Given the description of an element on the screen output the (x, y) to click on. 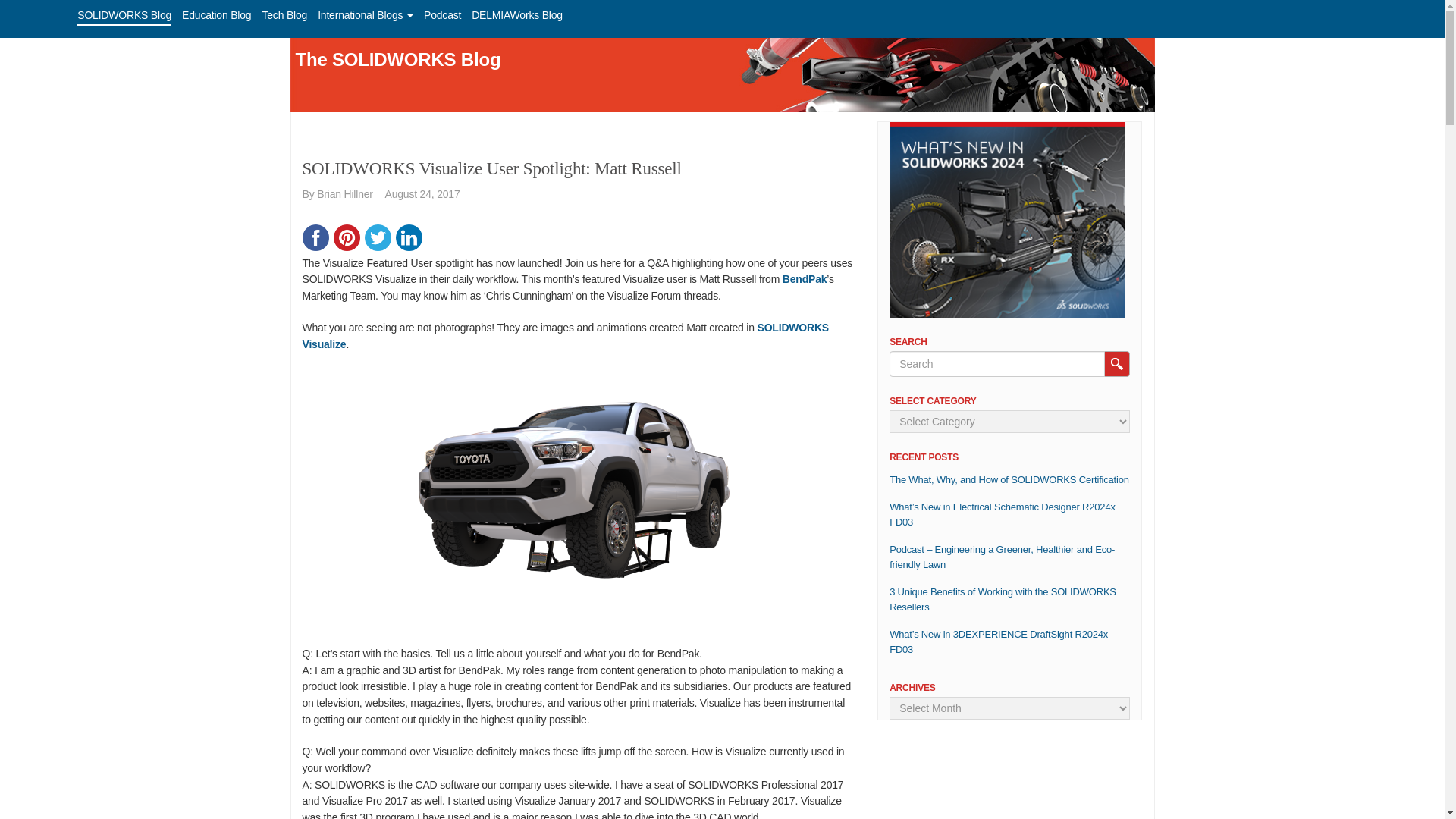
International Blogs (365, 14)
SOLIDWORKS Visualize (564, 335)
BendPak (805, 278)
Tech Blog (284, 14)
Education Blog (216, 14)
Podcast (442, 14)
SOLIDWORKS Blog (124, 14)
Brian Hillner (344, 193)
DELMIAWorks Blog (516, 14)
The SOLIDWORKS Blog (397, 59)
